Given the description of an element on the screen output the (x, y) to click on. 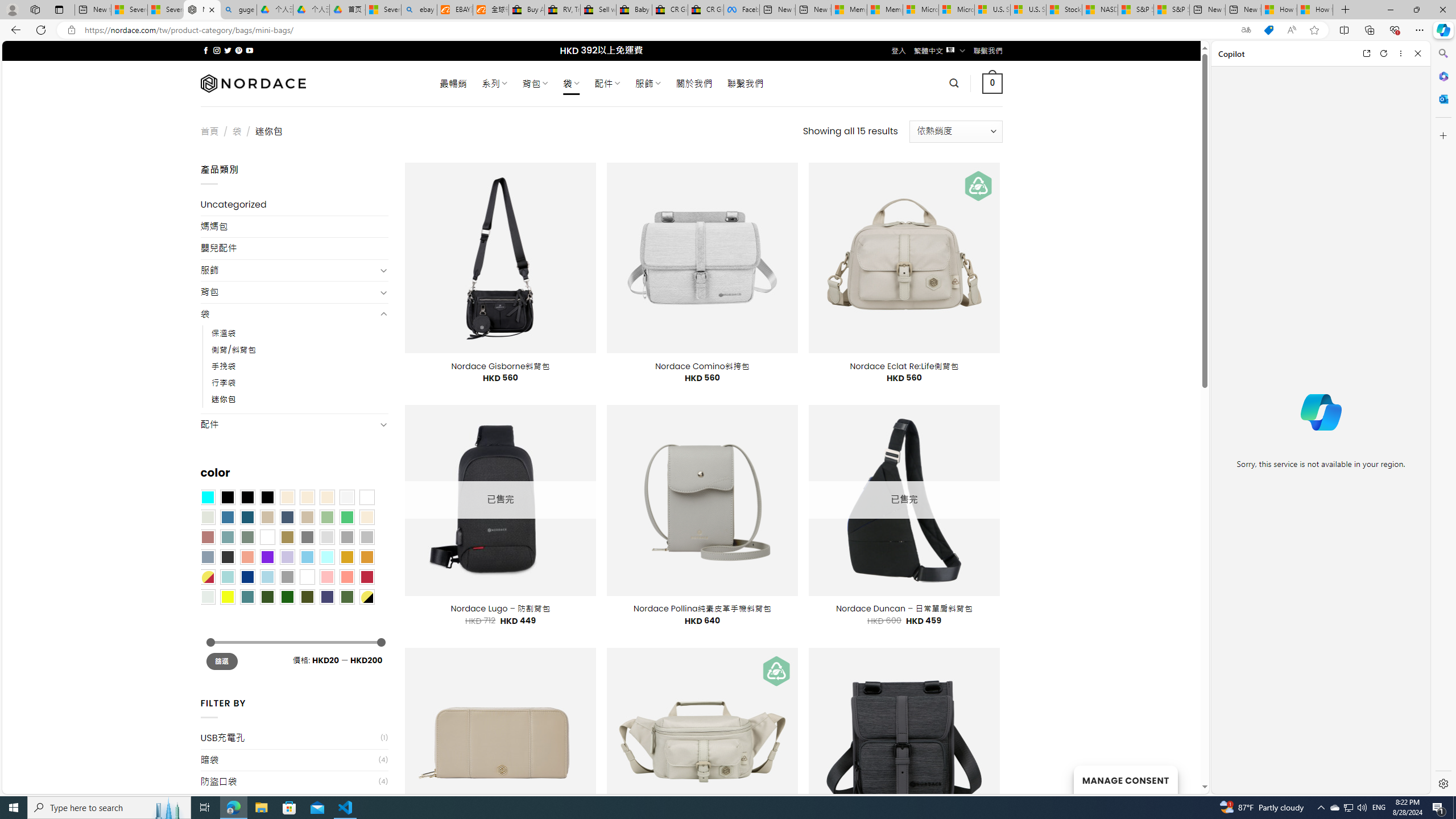
More options (1401, 53)
Dull Nickle (207, 596)
